Given the description of an element on the screen output the (x, y) to click on. 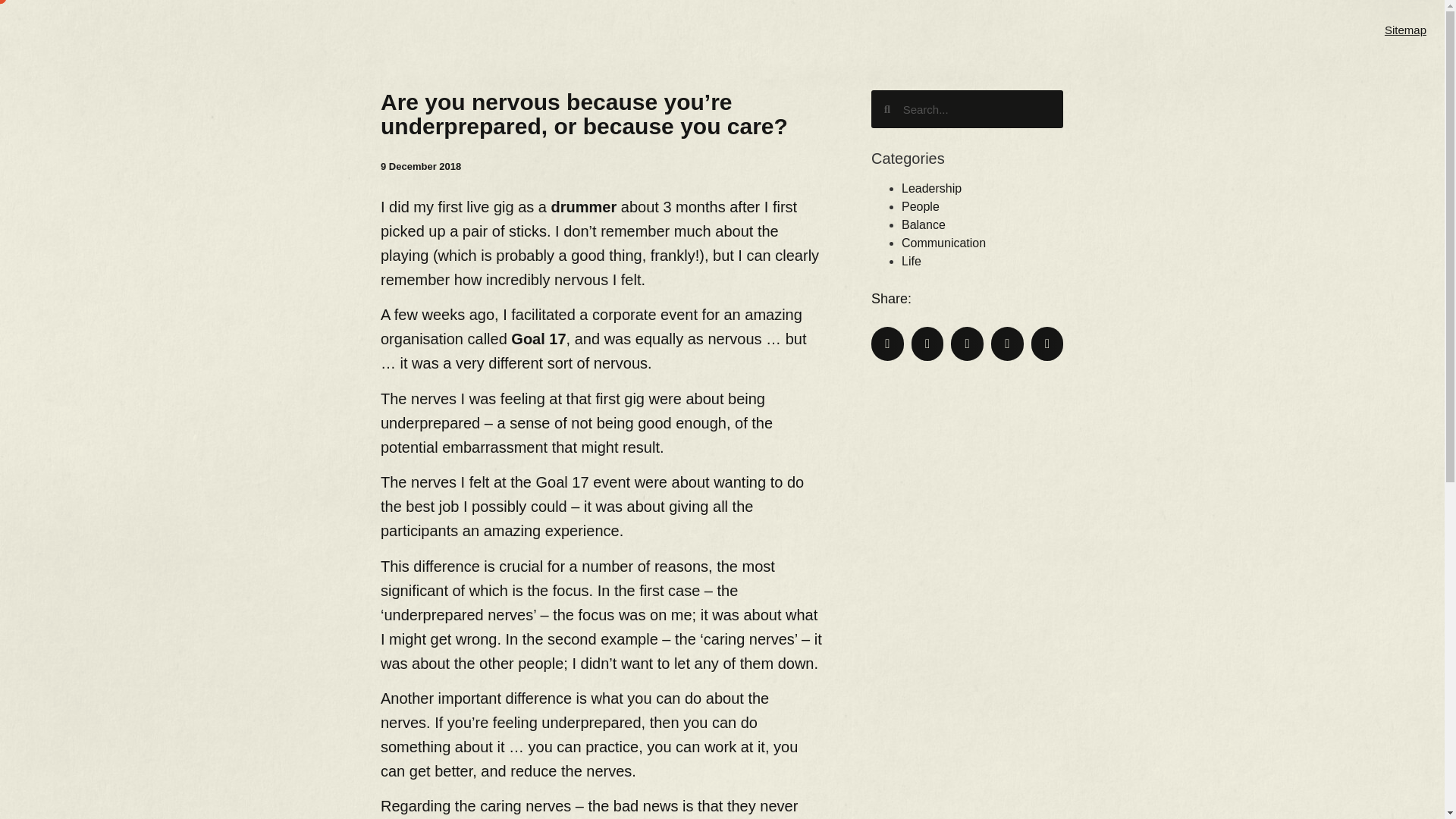
drummer (584, 207)
Communication (943, 242)
Life (911, 260)
Goal 17 (538, 338)
People (920, 205)
Balance (922, 224)
Leadership (930, 187)
